Given the description of an element on the screen output the (x, y) to click on. 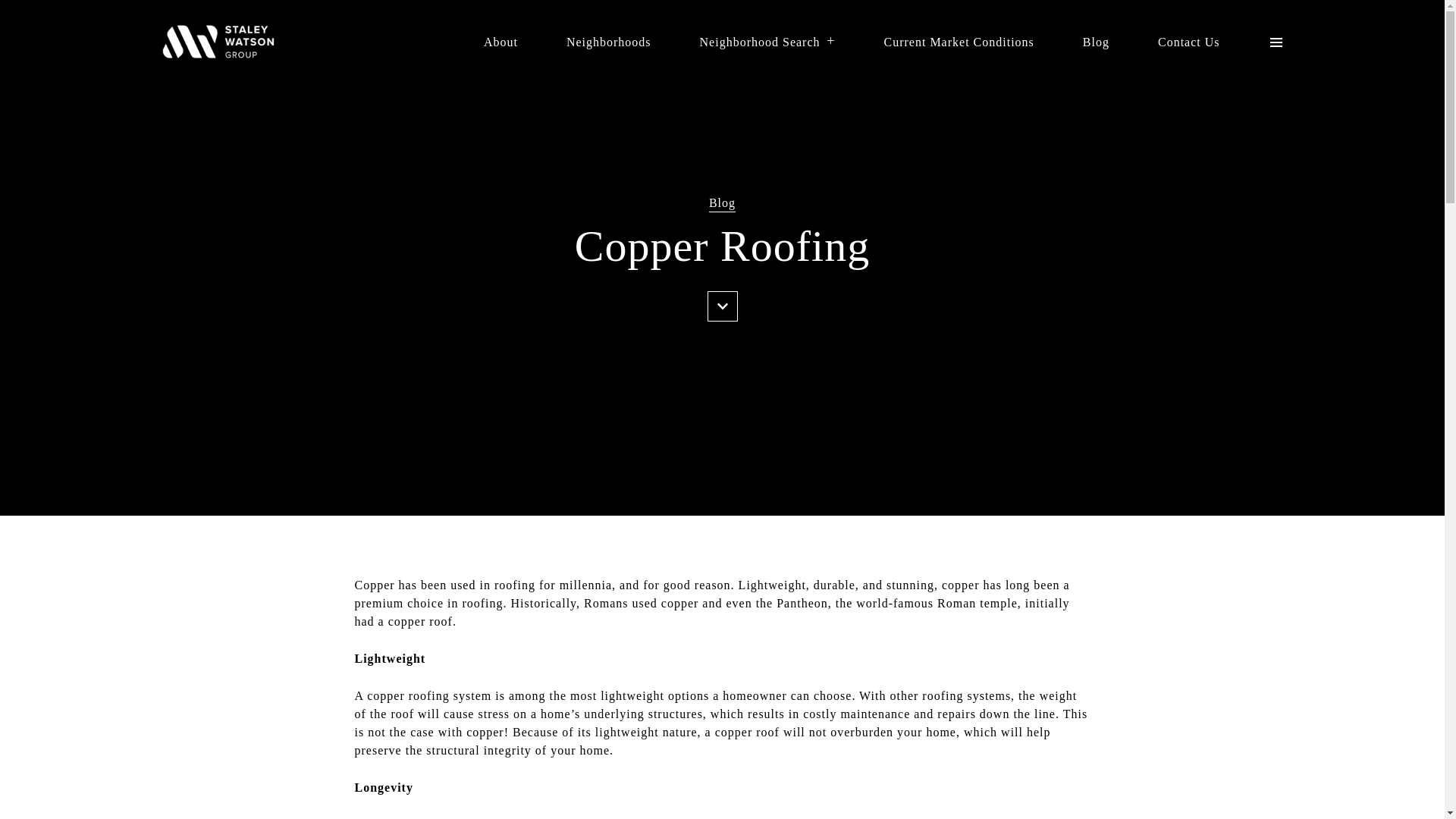
Neighborhood Search (767, 41)
Current Market Conditions (958, 41)
Neighborhoods (608, 41)
Contact Us (1188, 41)
Blog (1096, 41)
About (500, 41)
